Given the description of an element on the screen output the (x, y) to click on. 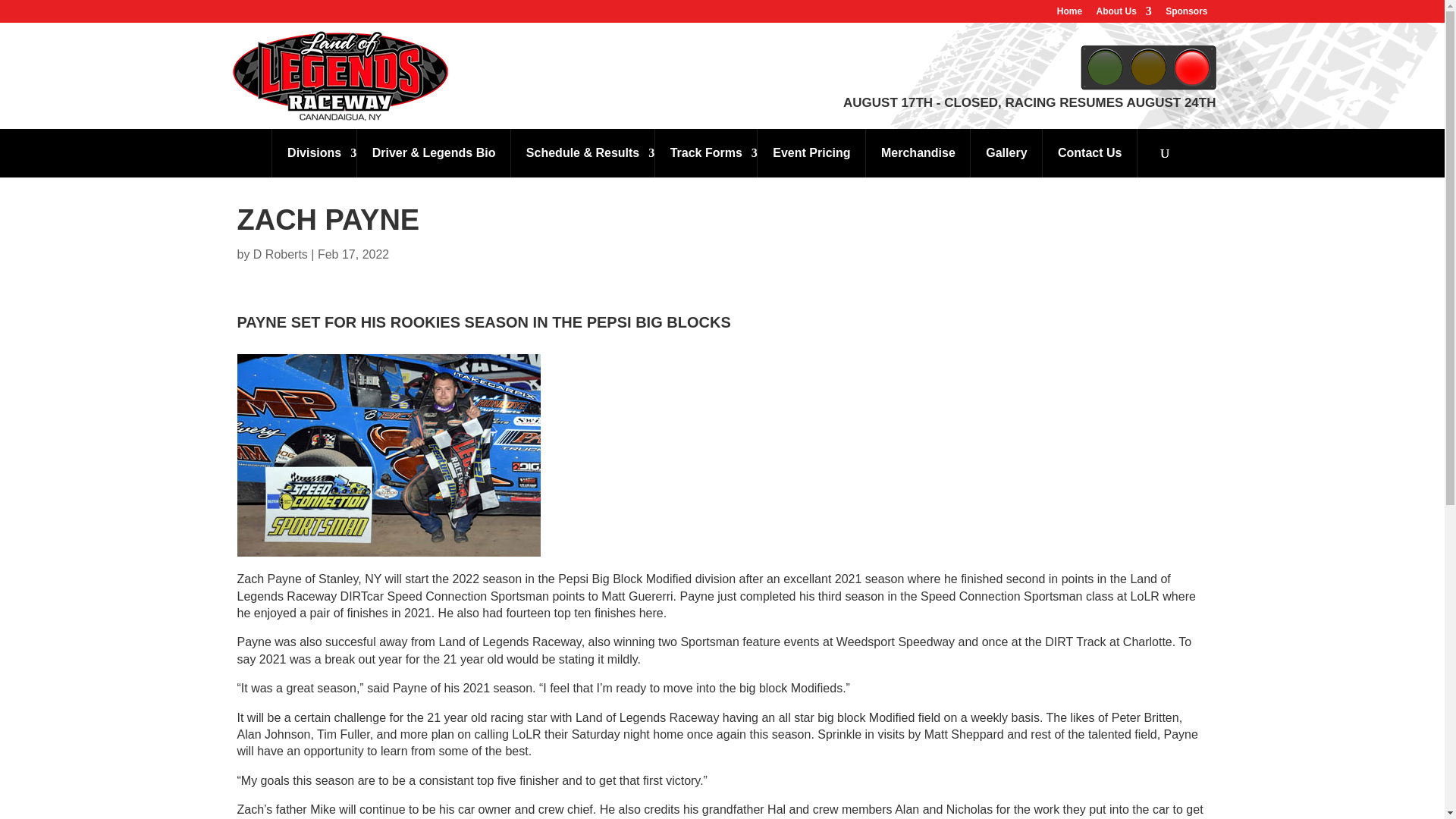
Track Forms (705, 152)
Sponsors (1186, 14)
About Us (1123, 14)
Home (1069, 14)
Contact Us (1089, 152)
Event Pricing (810, 152)
mrp-24 (387, 454)
Gallery (1005, 152)
Merchandise (917, 152)
Divisions (313, 152)
